Given the description of an element on the screen output the (x, y) to click on. 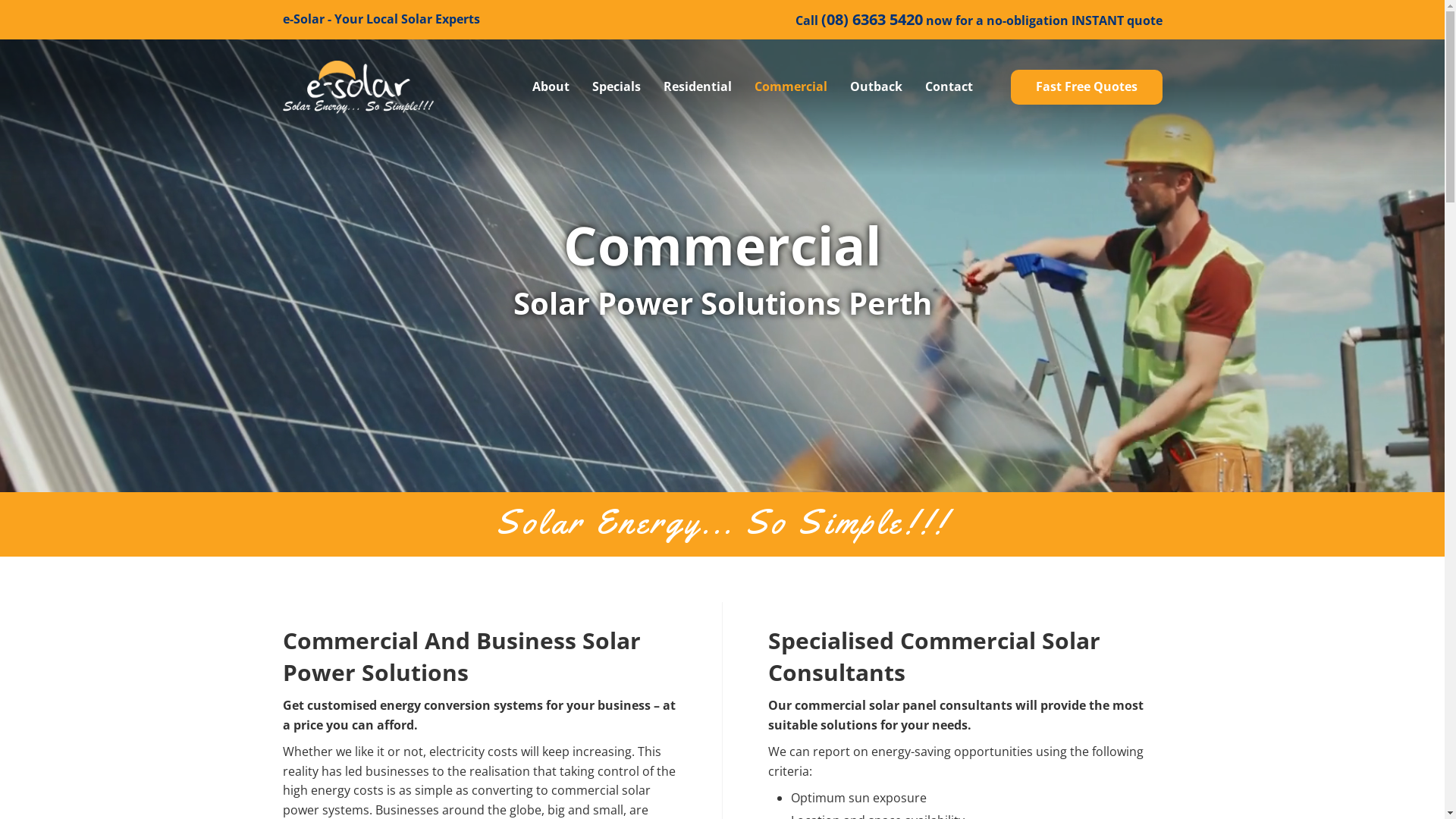
Fast Free Quotes Element type: text (1085, 86)
Outback Element type: text (875, 86)
(08) 6363 5420 Element type: text (871, 20)
About Element type: text (550, 86)
Contact Element type: text (948, 86)
Commercial Element type: text (790, 86)
Residential Element type: text (696, 86)
e-solar logo. Element type: hover (357, 86)
Specials Element type: text (615, 86)
